Given the description of an element on the screen output the (x, y) to click on. 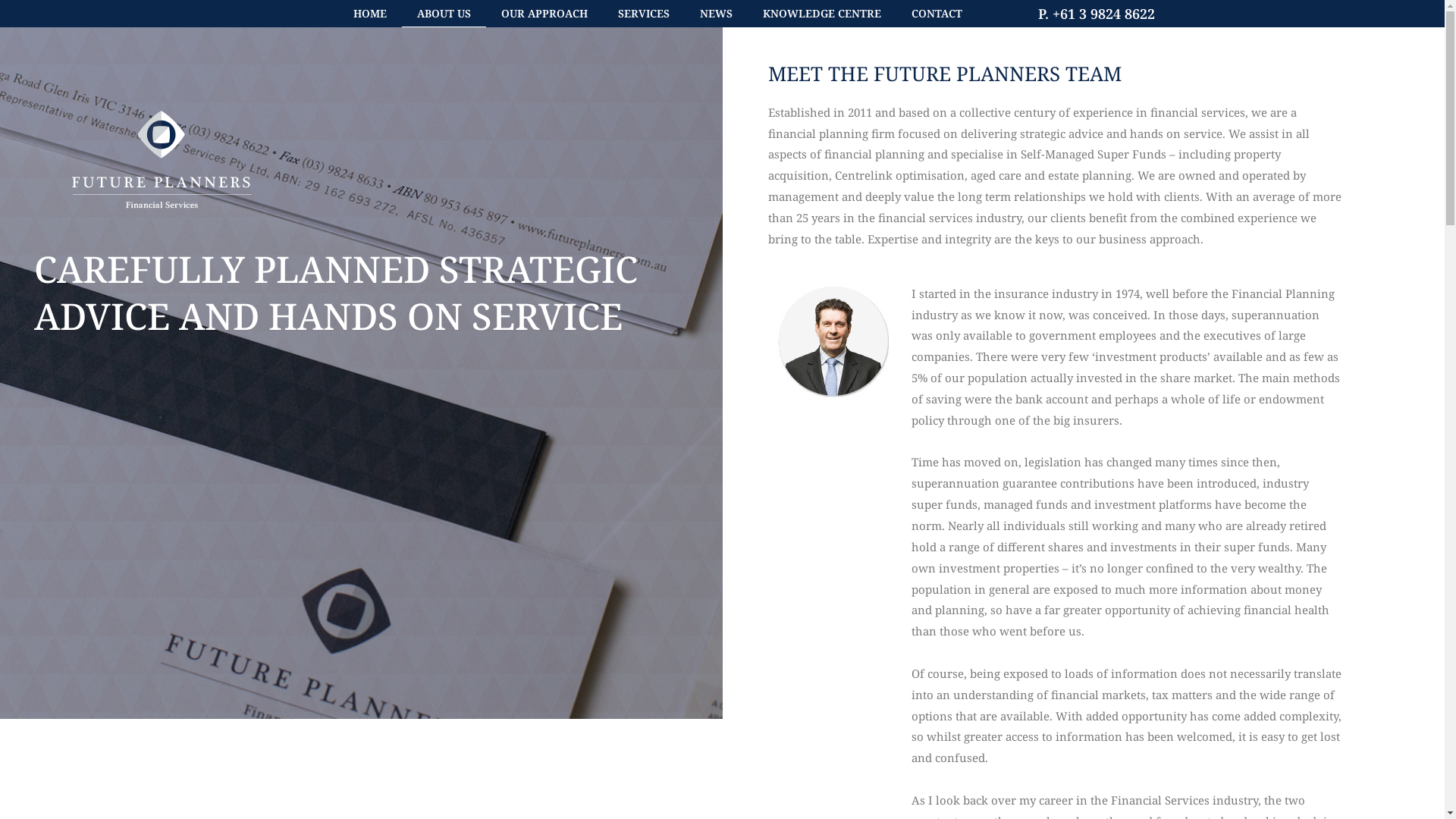
ABOUT US Element type: text (443, 13)
NEWS Element type: text (715, 13)
KNOWLEDGE CENTRE Element type: text (821, 13)
CONTACT Element type: text (936, 13)
OUR APPROACH Element type: text (543, 13)
SERVICES Element type: text (643, 13)
HOME Element type: text (369, 13)
